Given the description of an element on the screen output the (x, y) to click on. 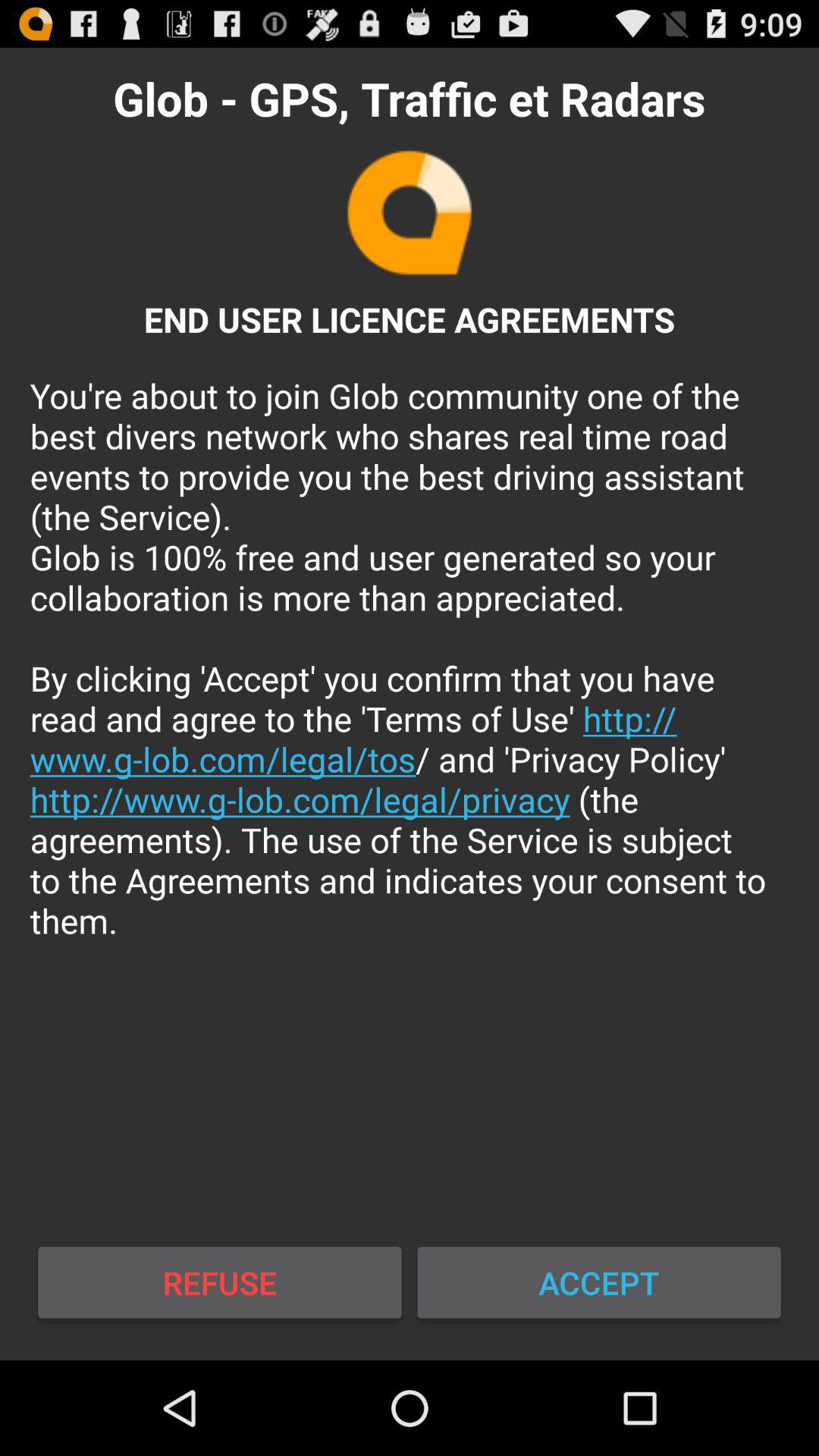
select the you re about (409, 657)
